Given the description of an element on the screen output the (x, y) to click on. 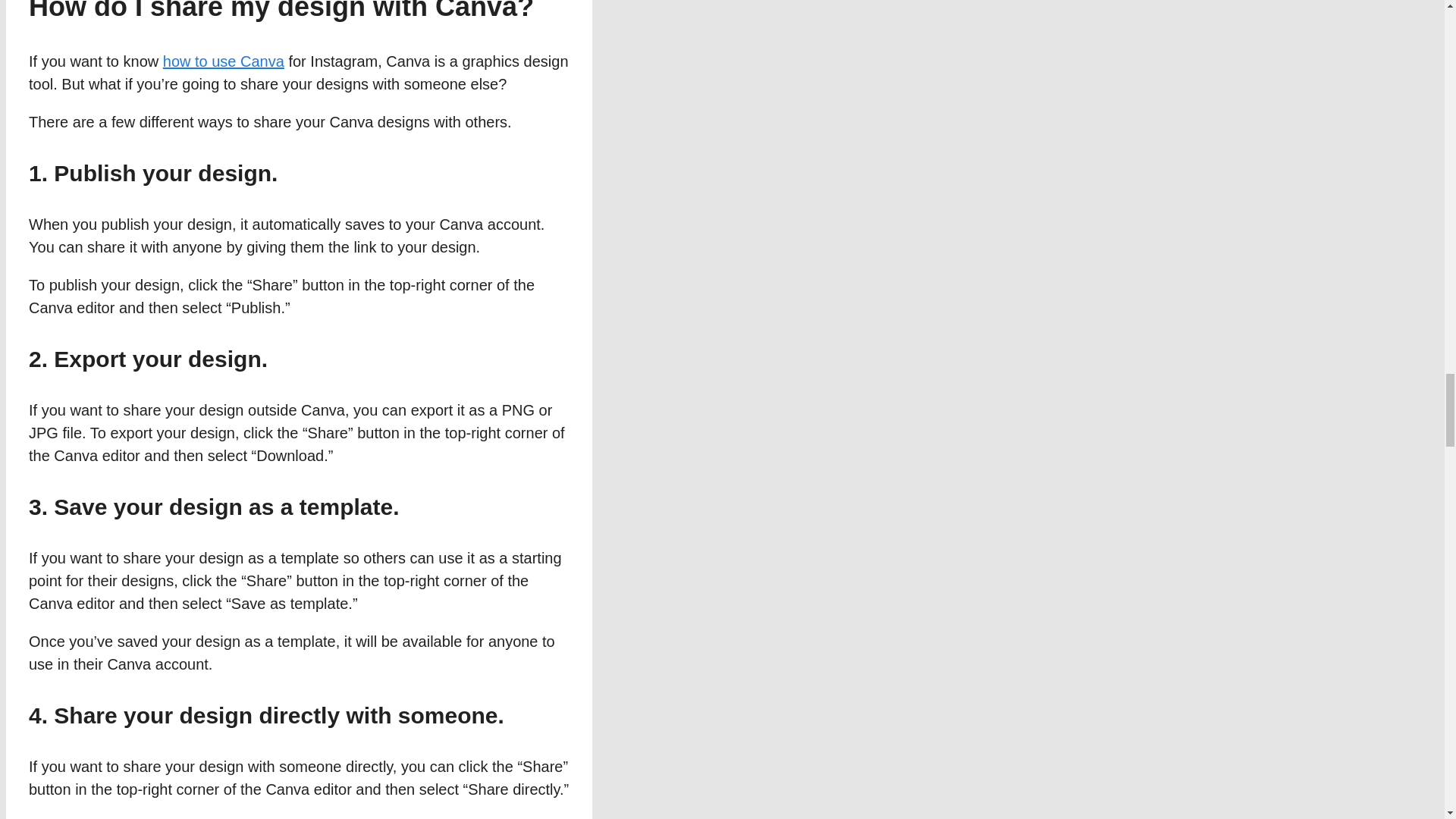
how to use Canva (223, 61)
